Given the description of an element on the screen output the (x, y) to click on. 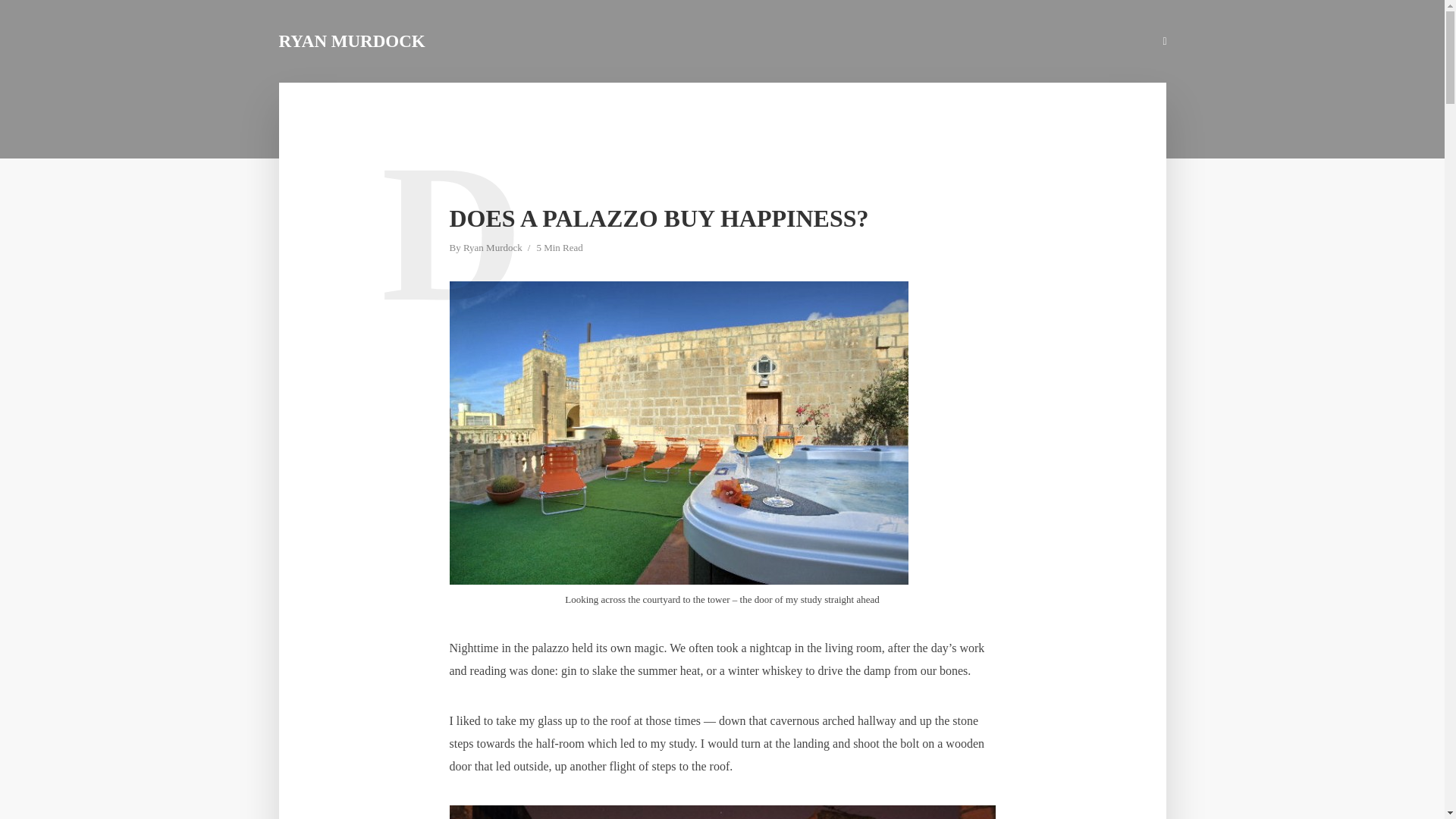
Ryan Murdock (492, 248)
RYAN MURDOCK (352, 40)
